Given the description of an element on the screen output the (x, y) to click on. 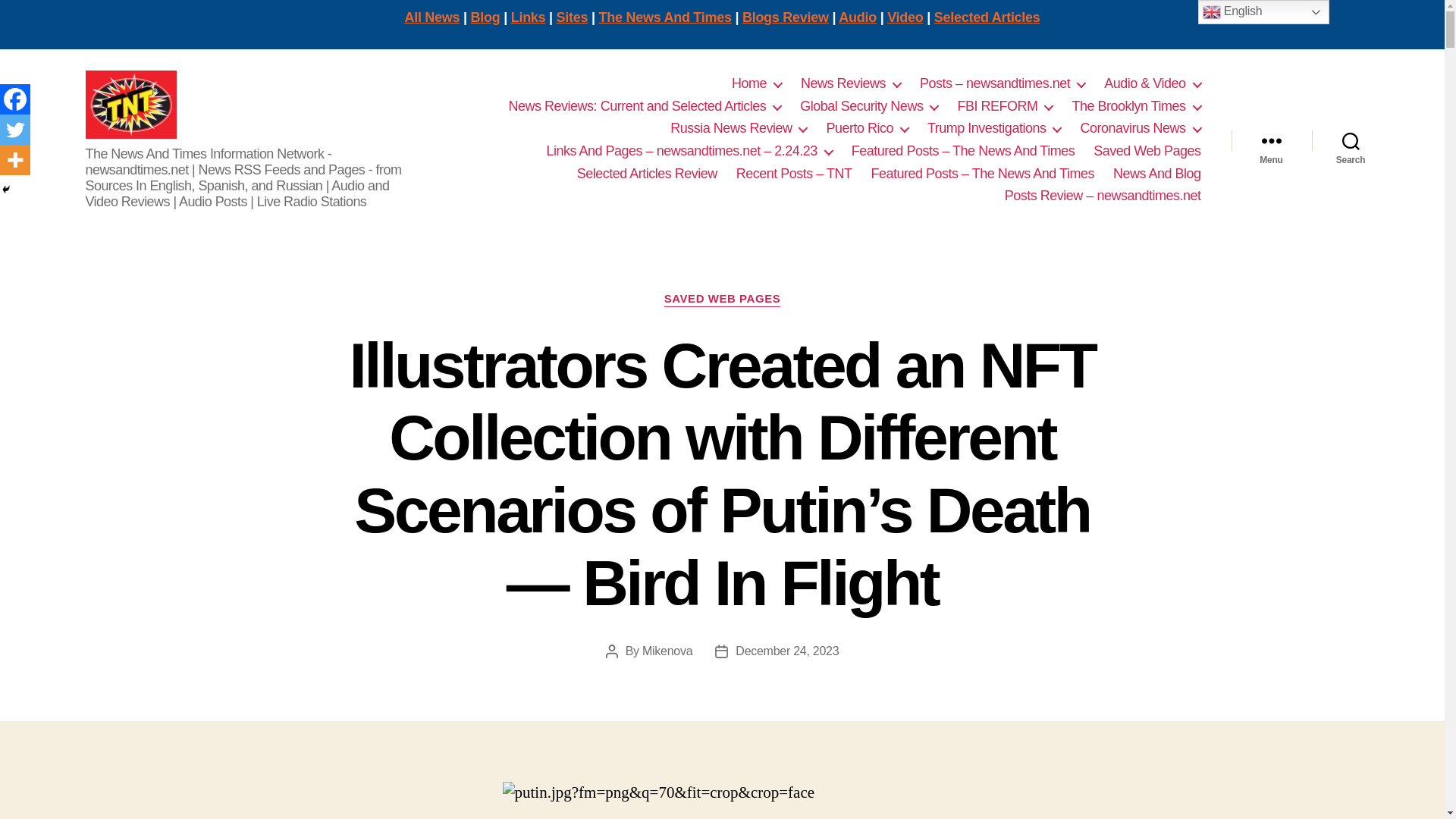
News Reviews (850, 84)
FBI REFORM (1004, 106)
Audio (857, 17)
Selected Articles (987, 17)
Links (528, 17)
Twitter (15, 129)
Video (904, 17)
The News And Times (665, 17)
More (15, 159)
Hide (5, 189)
Global Security News (868, 106)
Home (756, 84)
Blog (485, 17)
News Reviews: Current and Selected Articles (644, 106)
Blogs Review (785, 17)
